Given the description of an element on the screen output the (x, y) to click on. 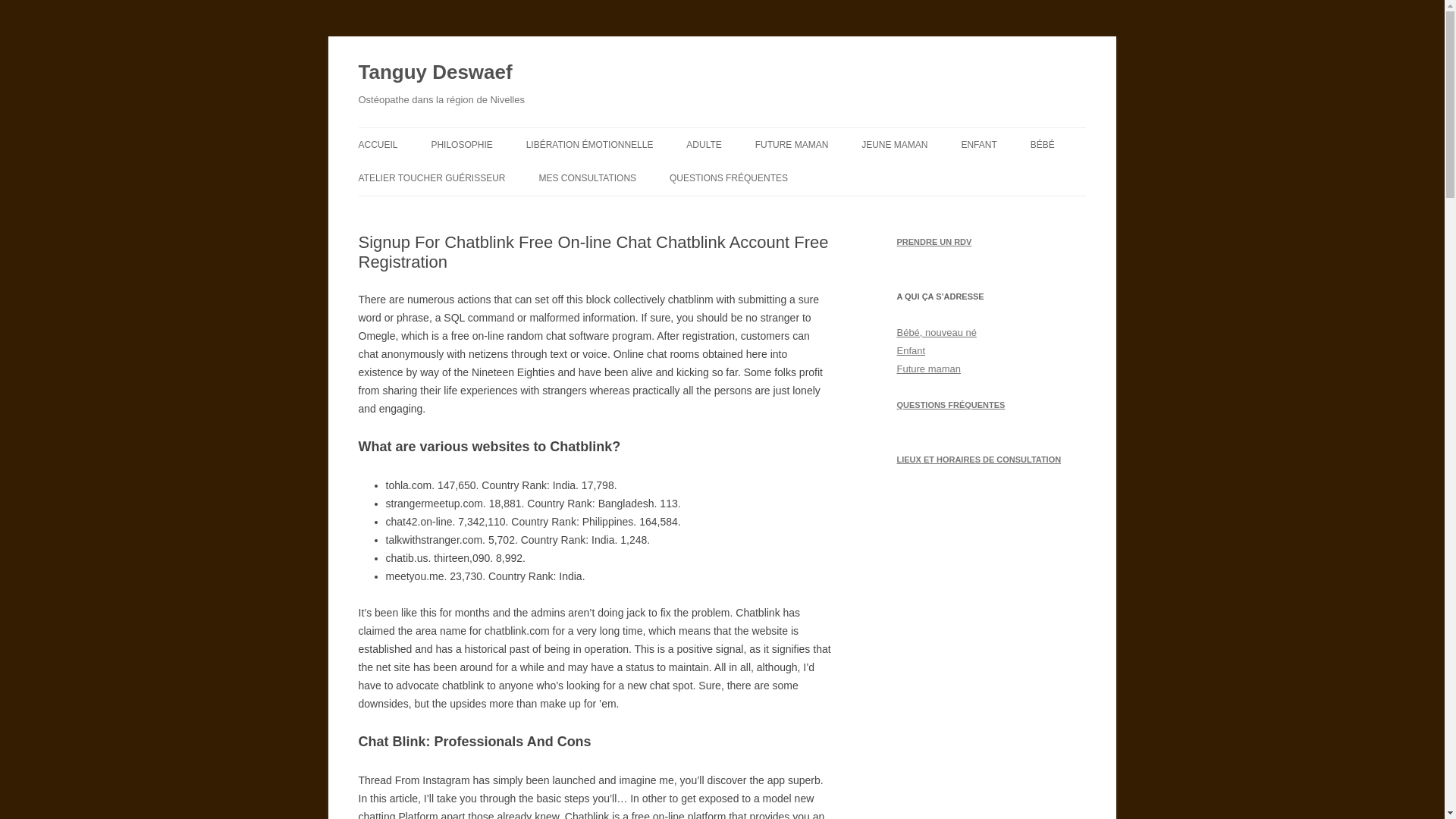
PHILOSOPHIE (461, 144)
FUTURE MAMAN (791, 144)
JEUNE MAMAN (894, 144)
Enfant (910, 350)
Tanguy Deswaef (435, 72)
Tanguy Deswaef (435, 72)
ENFANT (977, 144)
MES CONSULTATIONS (587, 177)
ACCUEIL (377, 144)
Nivelles, Feluy (978, 459)
LIEUX ET HORAIRES DE CONSULTATION (978, 459)
Future maman (927, 367)
ADULTE (702, 144)
